Given the description of an element on the screen output the (x, y) to click on. 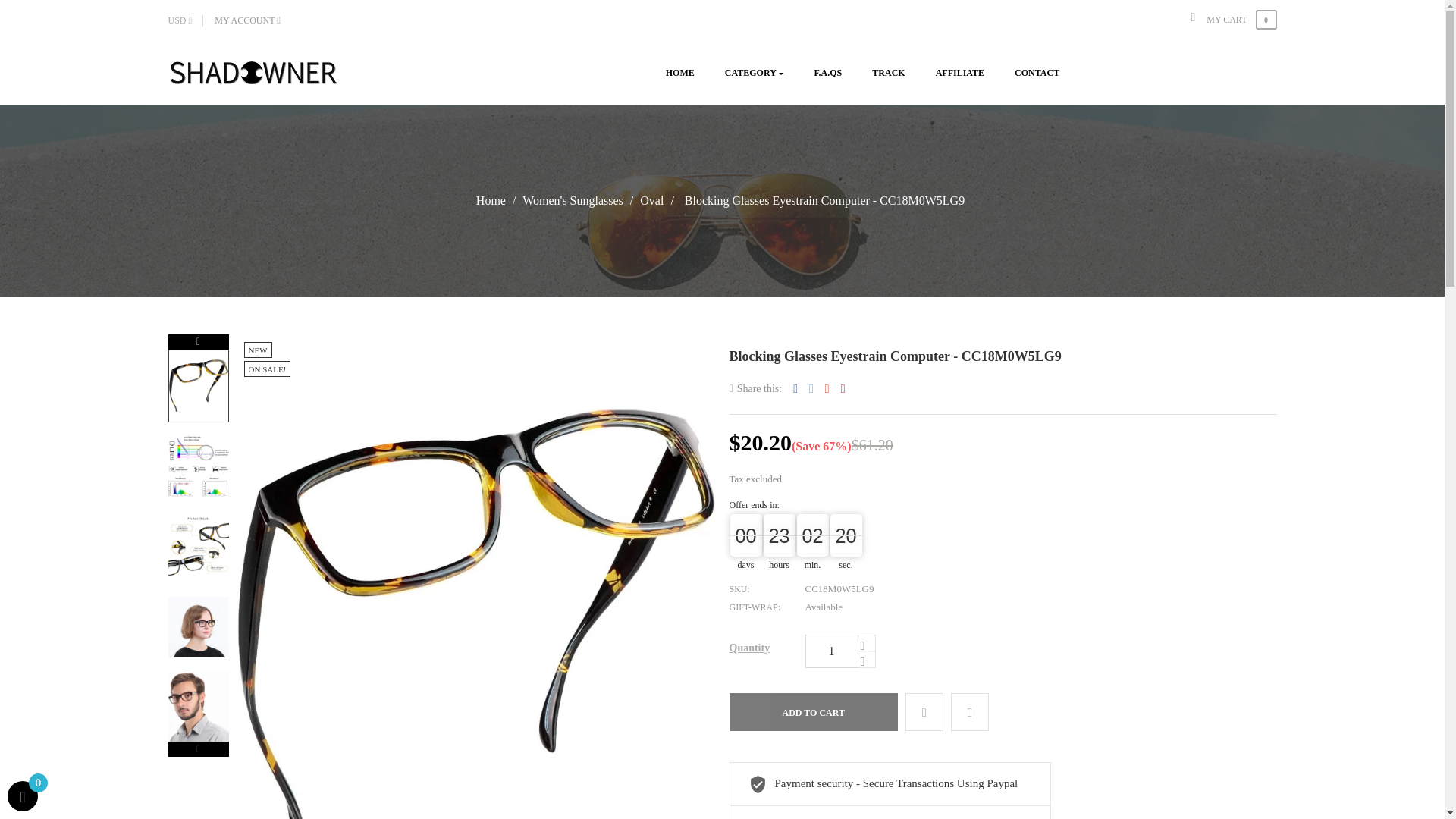
MY ACCOUNT (253, 20)
1 (832, 651)
HOME (680, 72)
Currency (185, 20)
USD (185, 20)
My account (253, 20)
CATEGORY (754, 72)
